Given the description of an element on the screen output the (x, y) to click on. 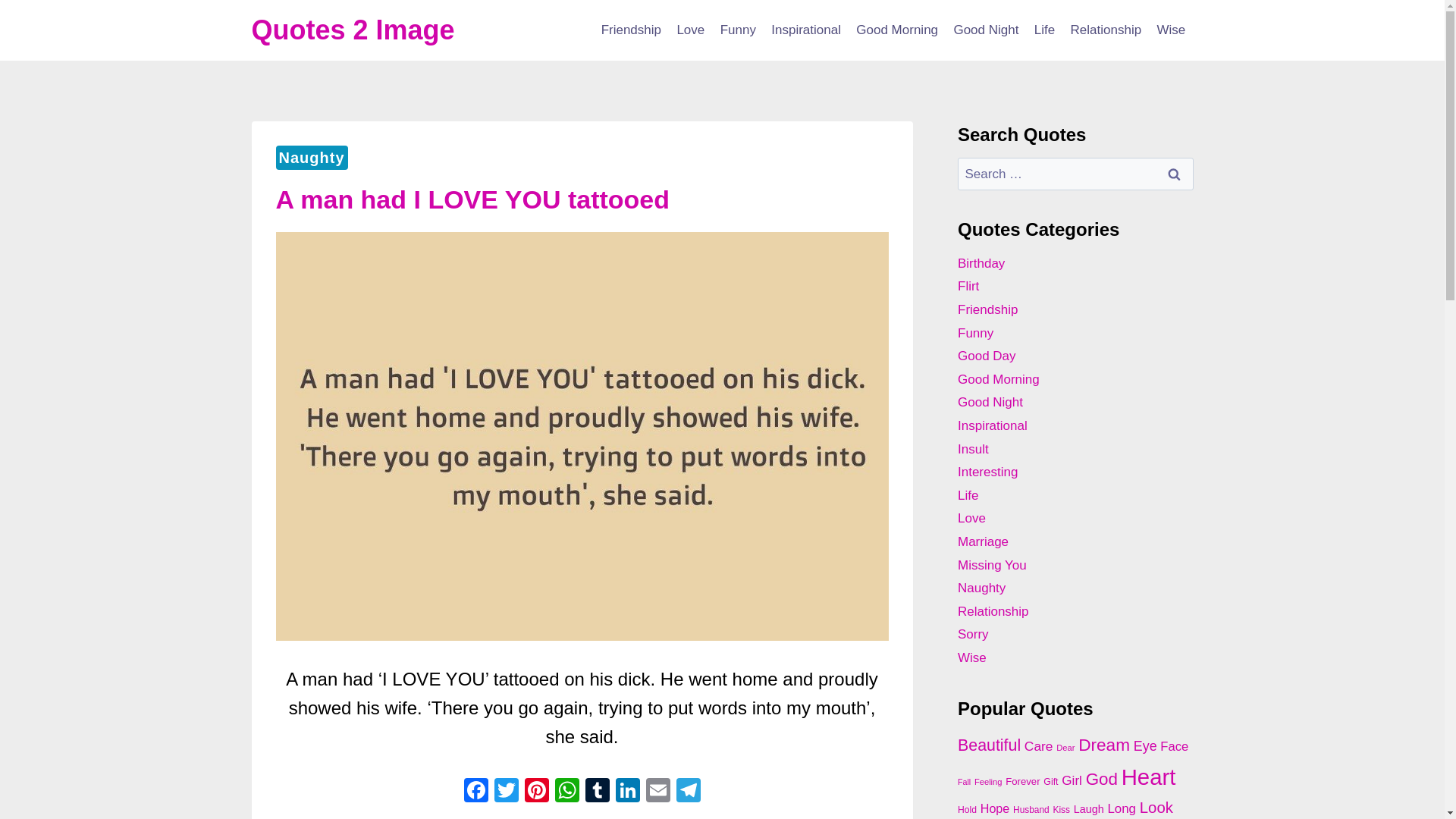
Naughty (311, 157)
Friendship (630, 30)
Telegram (687, 791)
Email (657, 791)
Search (1174, 174)
Funny (736, 30)
Relationship (1105, 30)
LinkedIn (627, 791)
Telegram (687, 791)
Tumblr (597, 791)
